Given the description of an element on the screen output the (x, y) to click on. 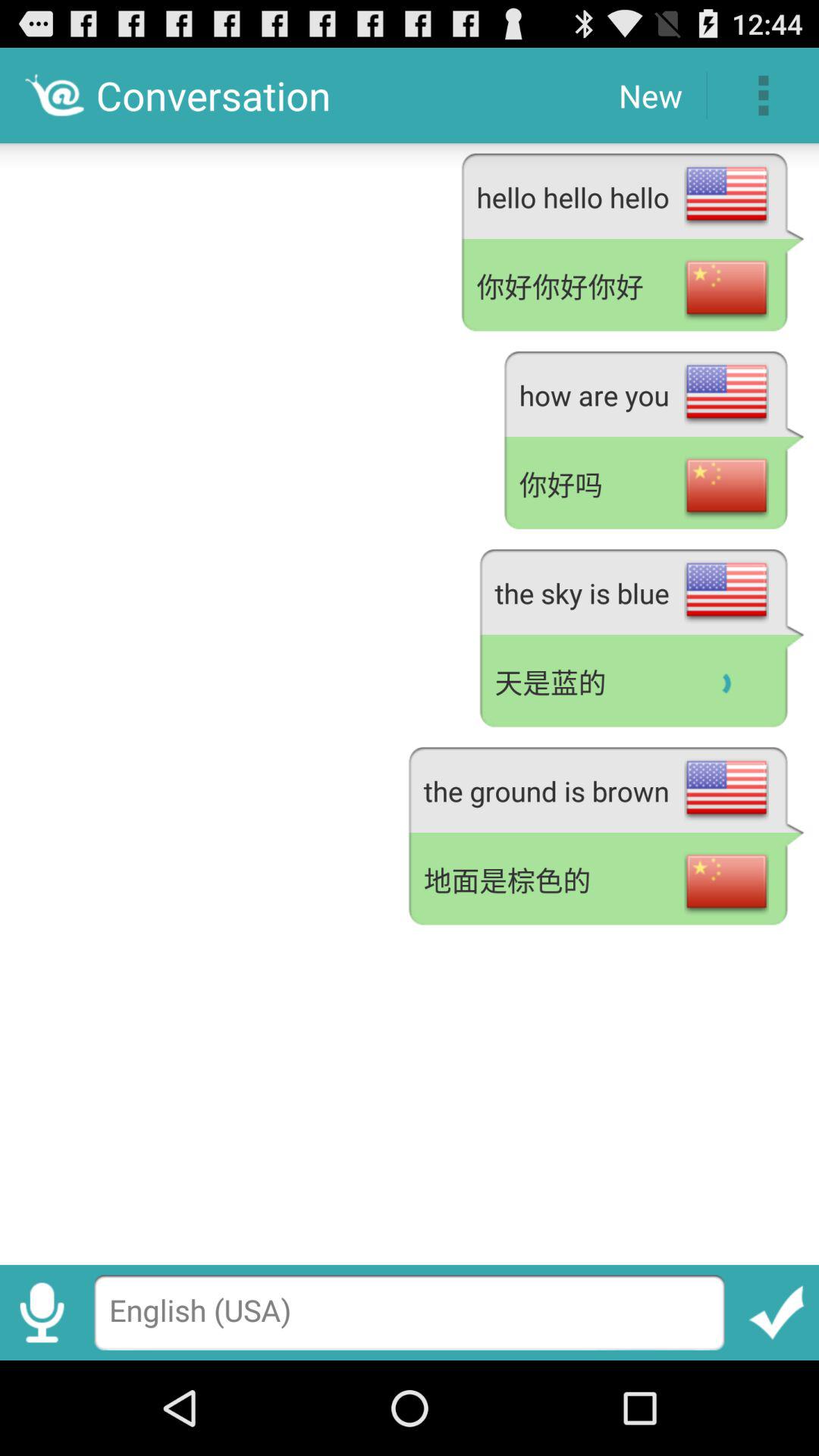
launch the app above the how are you (632, 287)
